Given the description of an element on the screen output the (x, y) to click on. 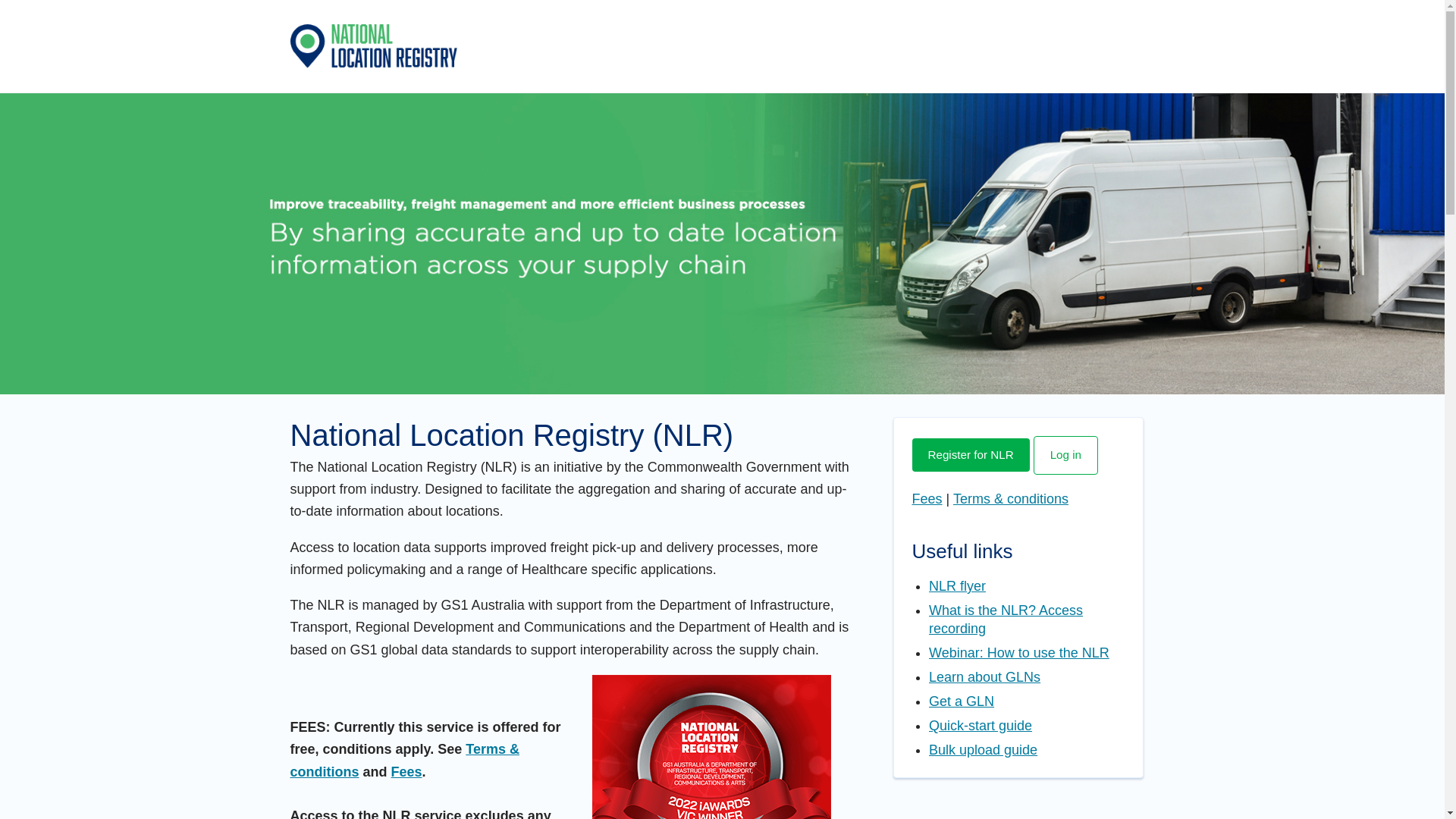
Terms & conditions Element type: text (403, 759)
What is the NLR? Access recording Element type: text (1005, 619)
Bulk upload guide Element type: text (982, 749)
Register for NLR Element type: text (970, 454)
Quick-start guide Element type: text (980, 725)
Get a GLN Element type: text (961, 701)
Log in Element type: text (1065, 455)
Webinar: How to use the NLR Element type: text (1018, 652)
Learn about GLNs Element type: text (984, 676)
Terms & conditions Element type: text (1010, 498)
NLR flyer Element type: text (956, 585)
Fees Element type: text (406, 771)
Fees Element type: text (926, 498)
